Given the description of an element on the screen output the (x, y) to click on. 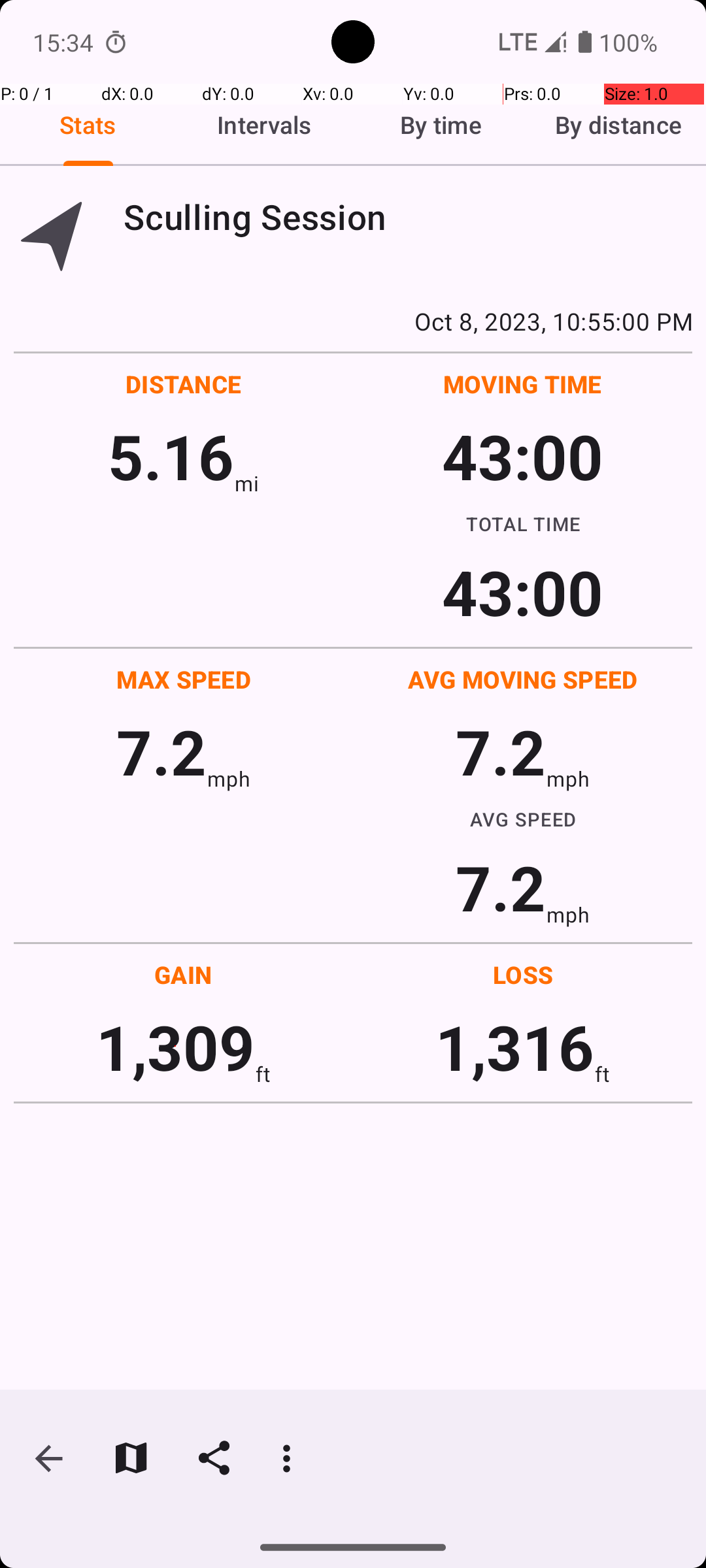
Sculling Session Element type: android.widget.TextView (407, 216)
Oct 8, 2023, 10:55:00 PM Element type: android.widget.TextView (352, 320)
5.16 Element type: android.widget.TextView (170, 455)
43:00 Element type: android.widget.TextView (522, 455)
7.2 Element type: android.widget.TextView (161, 750)
1,309 Element type: android.widget.TextView (175, 1045)
1,316 Element type: android.widget.TextView (514, 1045)
